Given the description of an element on the screen output the (x, y) to click on. 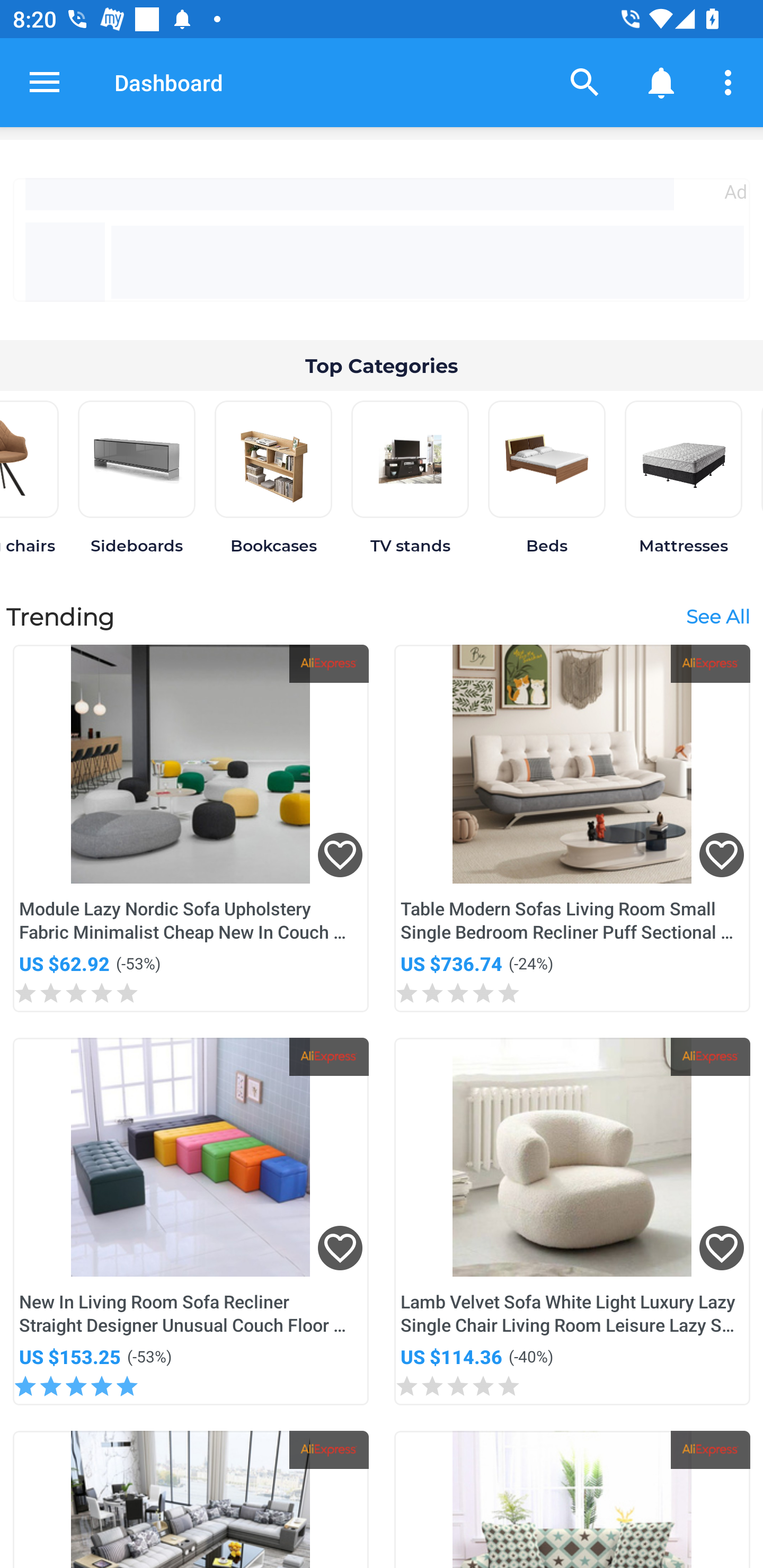
Open navigation drawer (44, 82)
Search (585, 81)
More options (731, 81)
See All (717, 615)
